Given the description of an element on the screen output the (x, y) to click on. 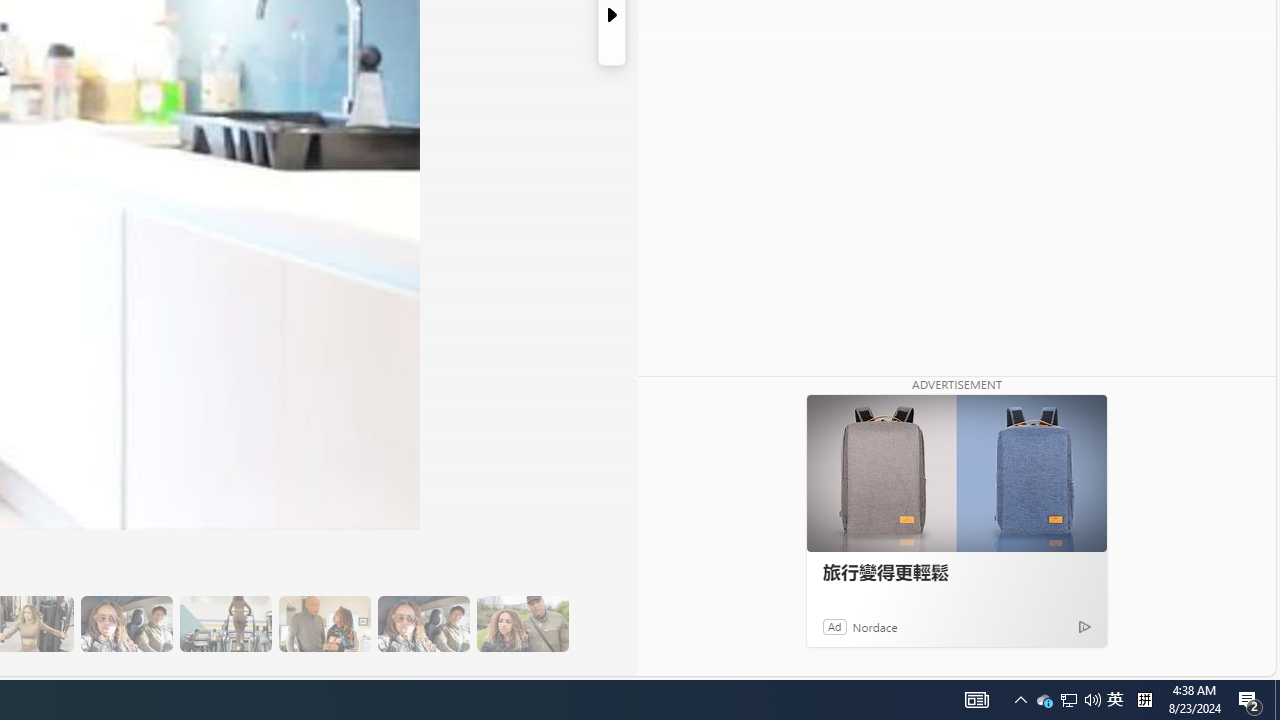
20 Overall, It Will Improve Your Health (522, 624)
16 The Couple's Program Helps with Accountability (125, 624)
19 It Also Simplifies Thiings (423, 624)
19 It Also Simplifies Thiings (423, 624)
16 The Couple's Program Helps with Accountability (125, 624)
